Given the description of an element on the screen output the (x, y) to click on. 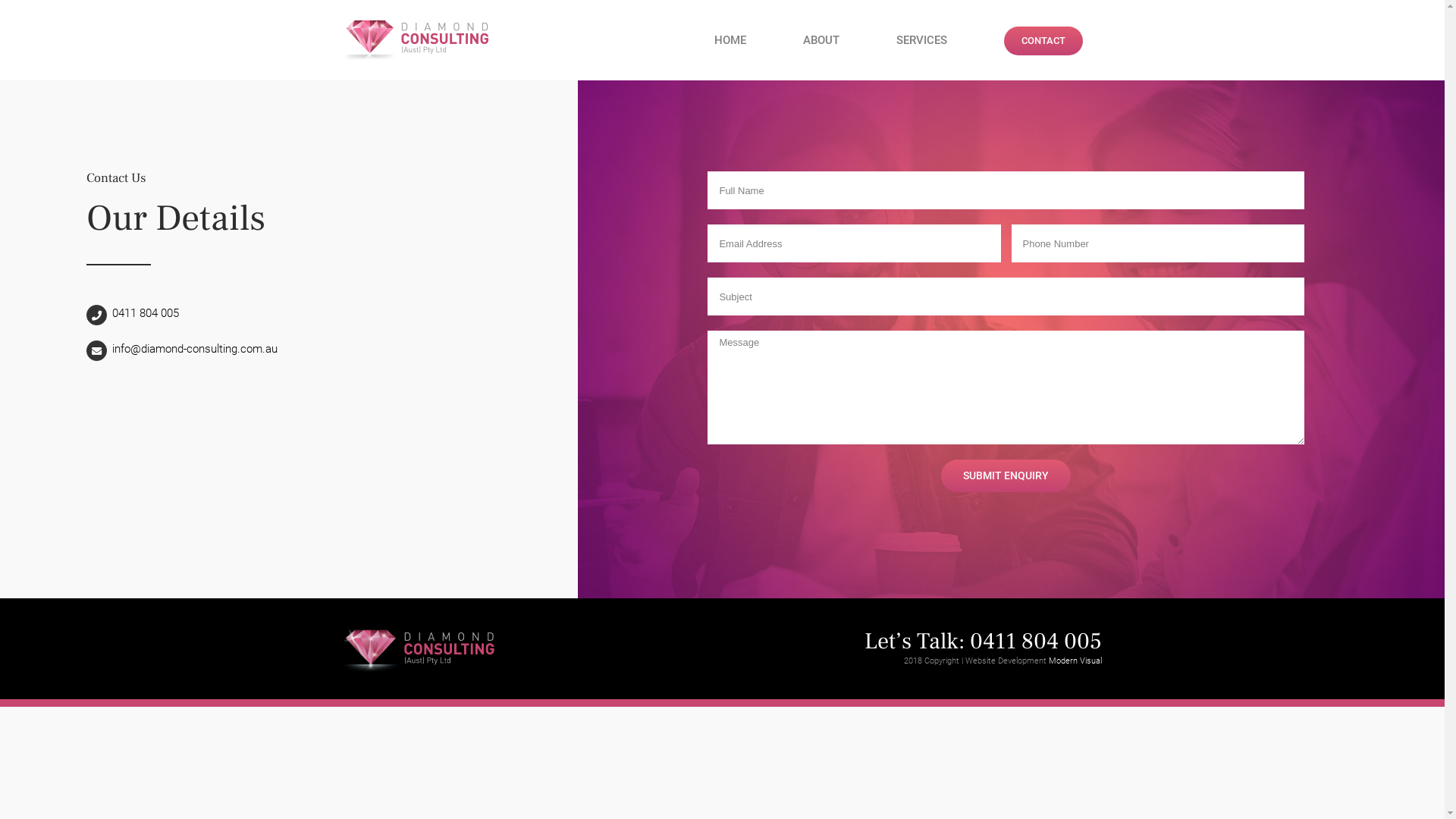
HOME Element type: text (729, 40)
SUBMIT ENQUIRY Element type: text (1005, 475)
Modern Visual Element type: text (1074, 660)
CONTACT Element type: text (1042, 40)
0411 804 005 Element type: text (1035, 640)
SERVICES Element type: text (920, 40)
0411 804 005 Element type: text (145, 313)
diamond-consulting-logo-black@2x Element type: hover (418, 650)
ABOUT Element type: text (821, 40)
info@diamond-consulting.com.au Element type: text (194, 348)
